Given the description of an element on the screen output the (x, y) to click on. 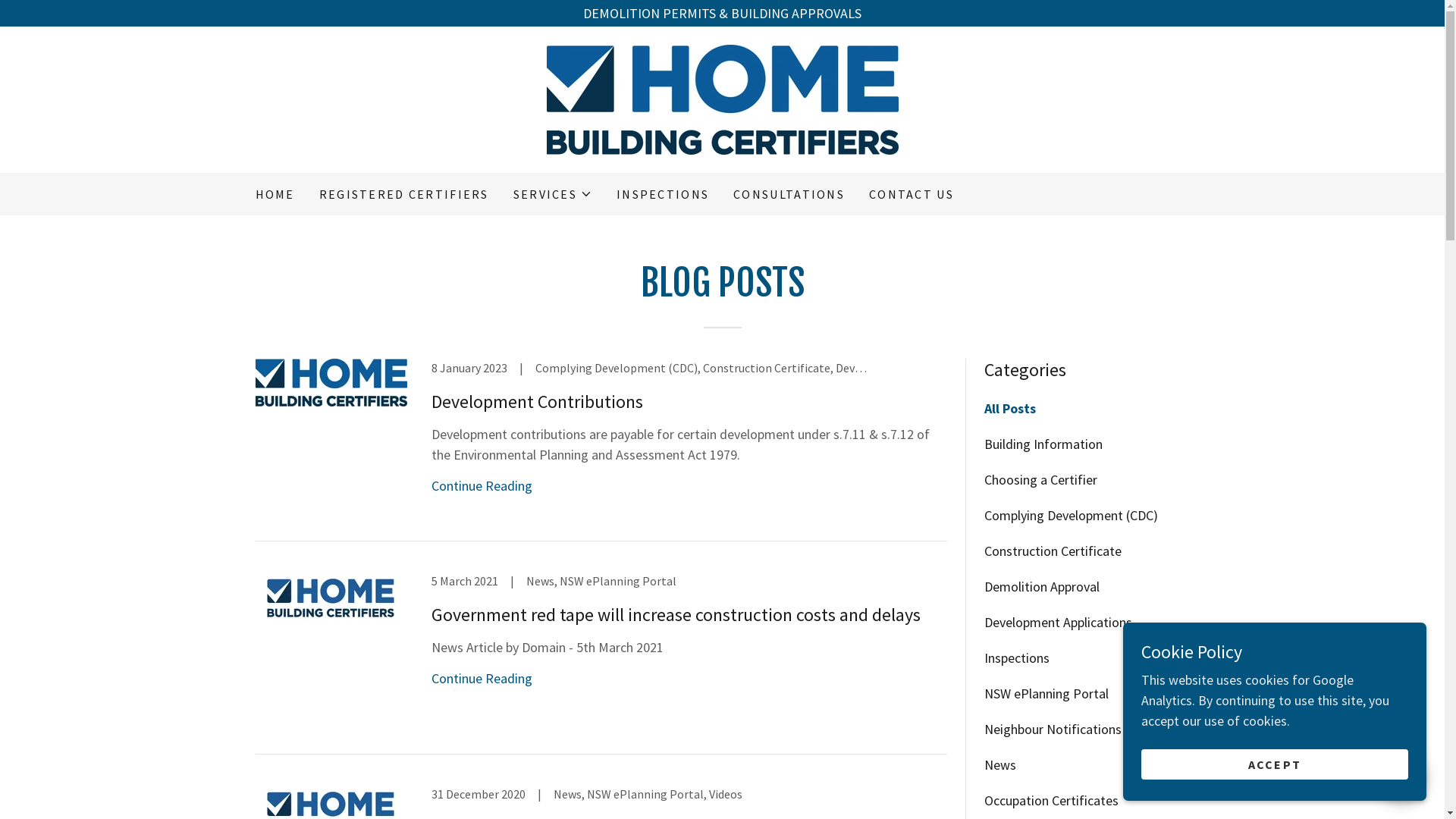
Demolition Approval Element type: text (1086, 586)
Construction Certificate Element type: text (1086, 550)
Inspections Element type: text (1086, 657)
Occupation Certificates Element type: text (1086, 800)
ACCEPT Element type: text (1274, 764)
HOME Element type: text (274, 193)
Building Information Element type: text (1086, 443)
Choosing a Certifier Element type: text (1086, 479)
CONSULTATIONS Element type: text (788, 193)
News Element type: text (1086, 764)
HOME BUILDING CERTIFIERS Element type: hover (721, 97)
Development Applications Element type: text (1086, 621)
Neighbour Notifications Element type: text (1086, 728)
Complying Development (CDC) Element type: text (1086, 515)
INSPECTIONS Element type: text (662, 193)
SERVICES Element type: text (552, 194)
REGISTERED CERTIFIERS Element type: text (403, 193)
CONTACT US Element type: text (911, 193)
NSW ePlanning Portal Element type: text (1086, 693)
All Posts Element type: text (1086, 408)
